Given the description of an element on the screen output the (x, y) to click on. 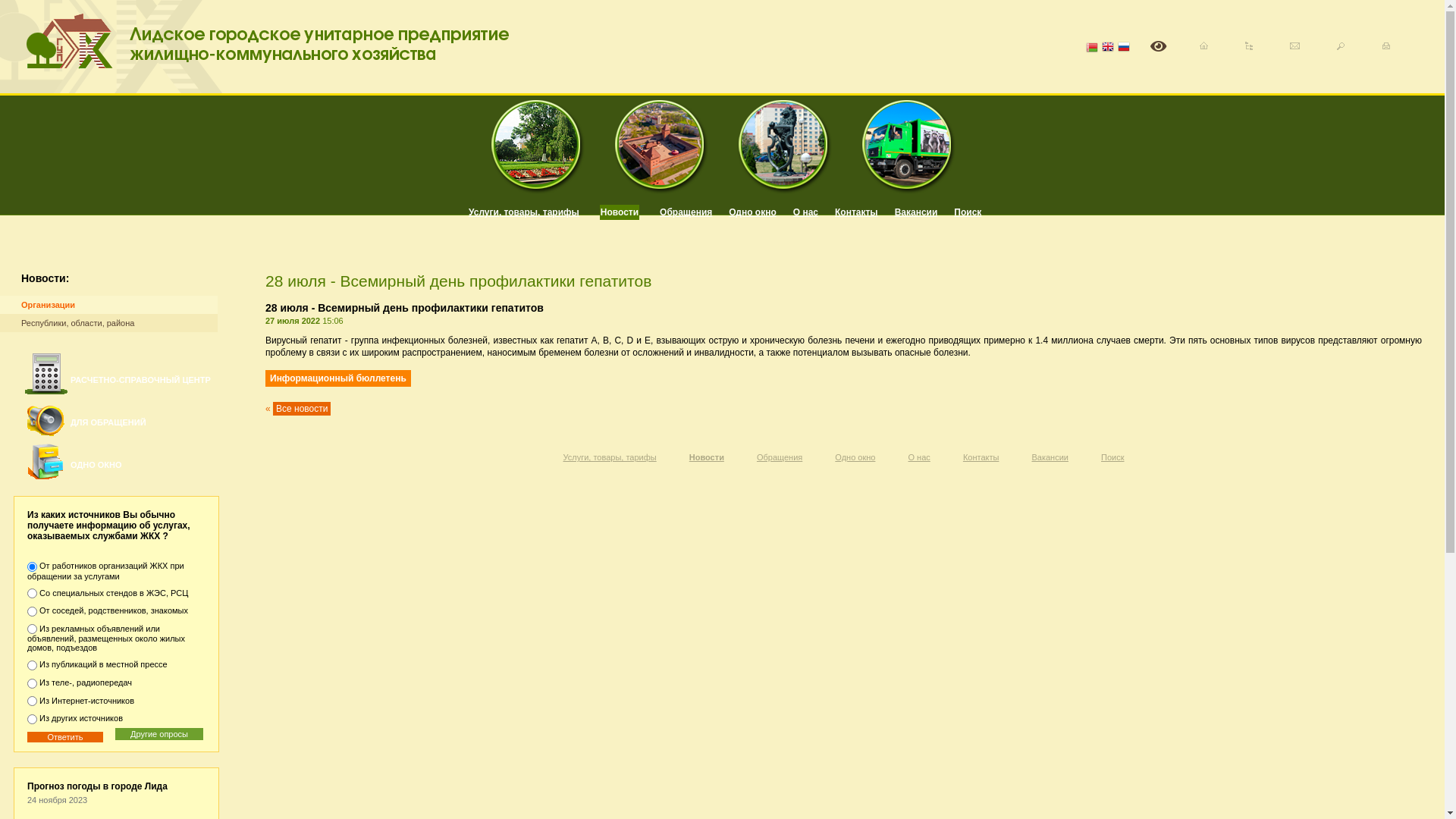
Russian Element type: hover (1123, 47)
English Element type: hover (1107, 47)
Belarusian Element type: hover (1091, 47)
